Given the description of an element on the screen output the (x, y) to click on. 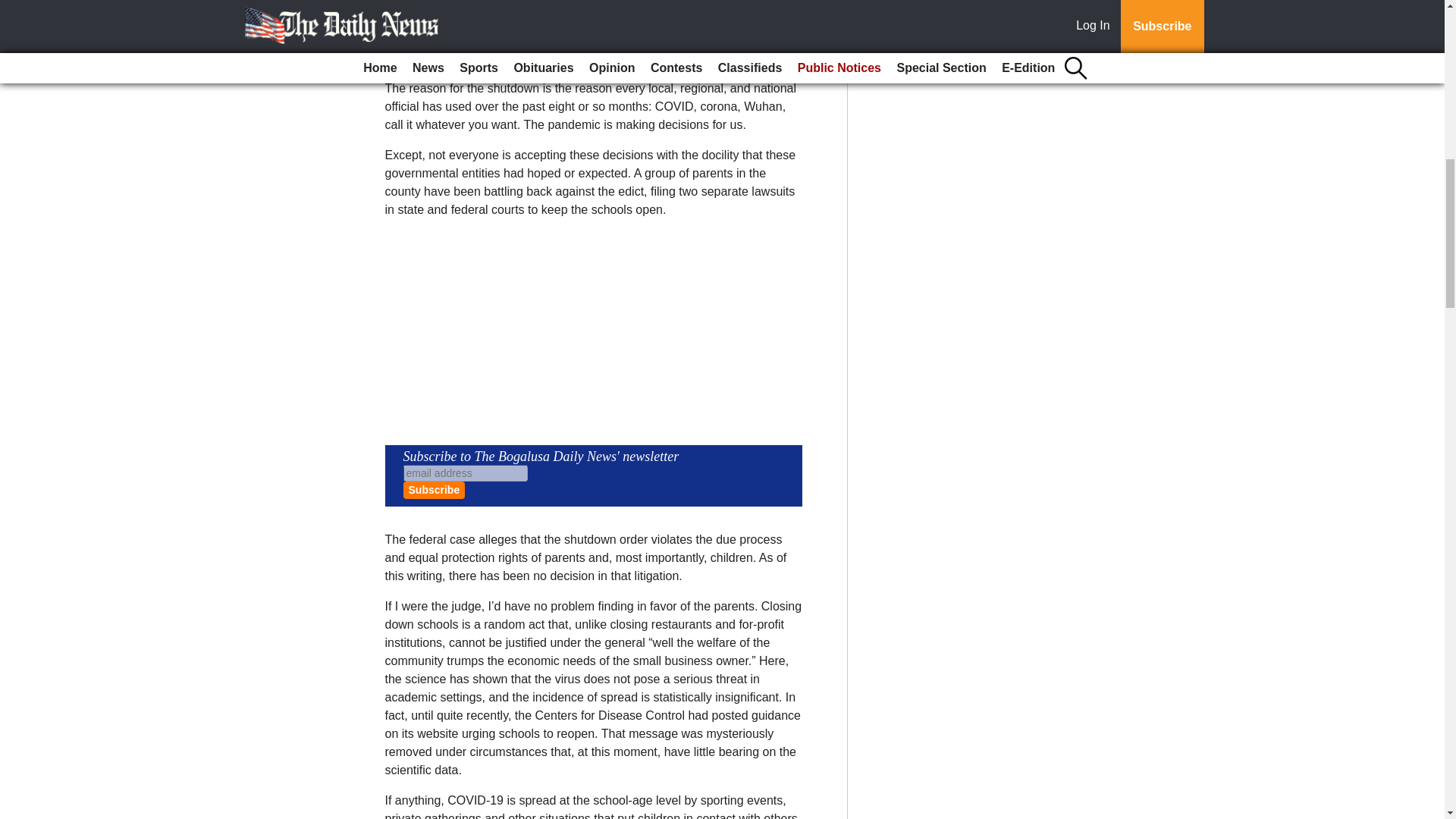
Subscribe (434, 489)
Subscribe (434, 489)
